Given the description of an element on the screen output the (x, y) to click on. 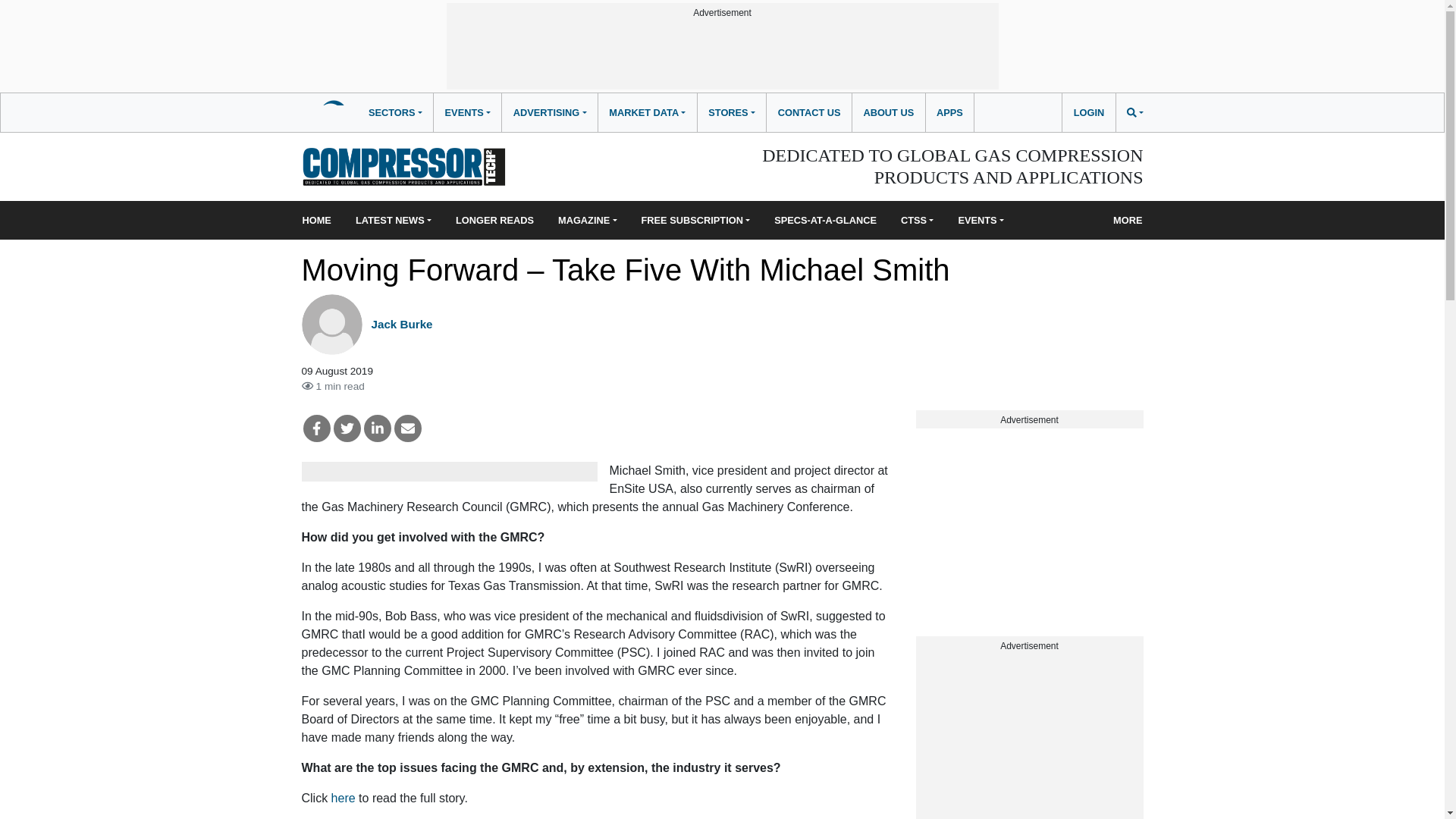
3rd party ad content (1028, 523)
Share this page on Facebook (316, 428)
3rd party ad content (1028, 736)
3rd party ad content (721, 55)
Share this page on Twitter (347, 428)
Share this page on Linkedin (377, 428)
Share this page via email (408, 428)
